Given the description of an element on the screen output the (x, y) to click on. 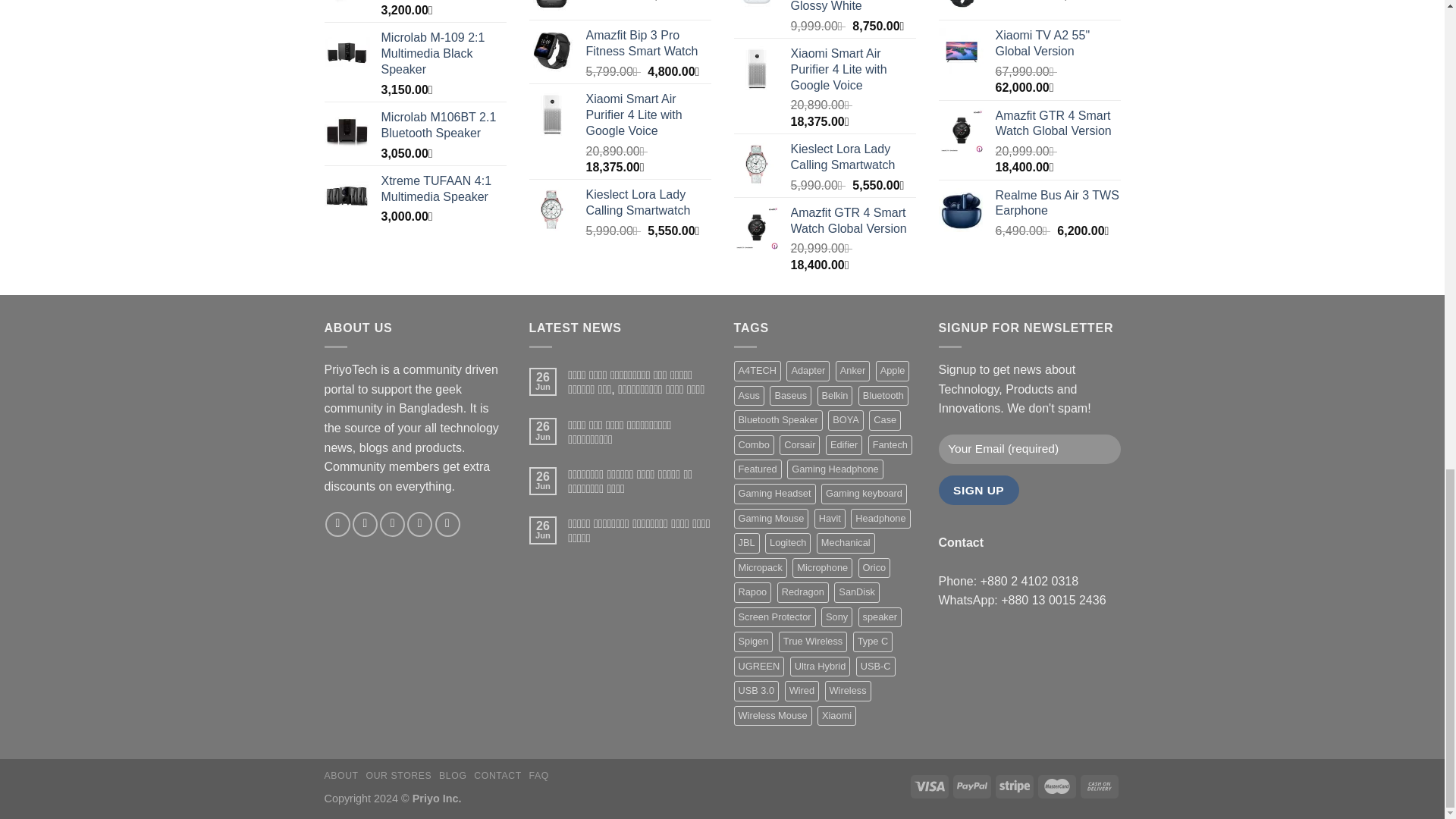
Follow on LinkedIn (447, 524)
Send us an email (419, 524)
Sign Up (979, 490)
Follow on Instagram (364, 524)
Follow on Twitter (392, 524)
Follow on Facebook (337, 524)
